Given the description of an element on the screen output the (x, y) to click on. 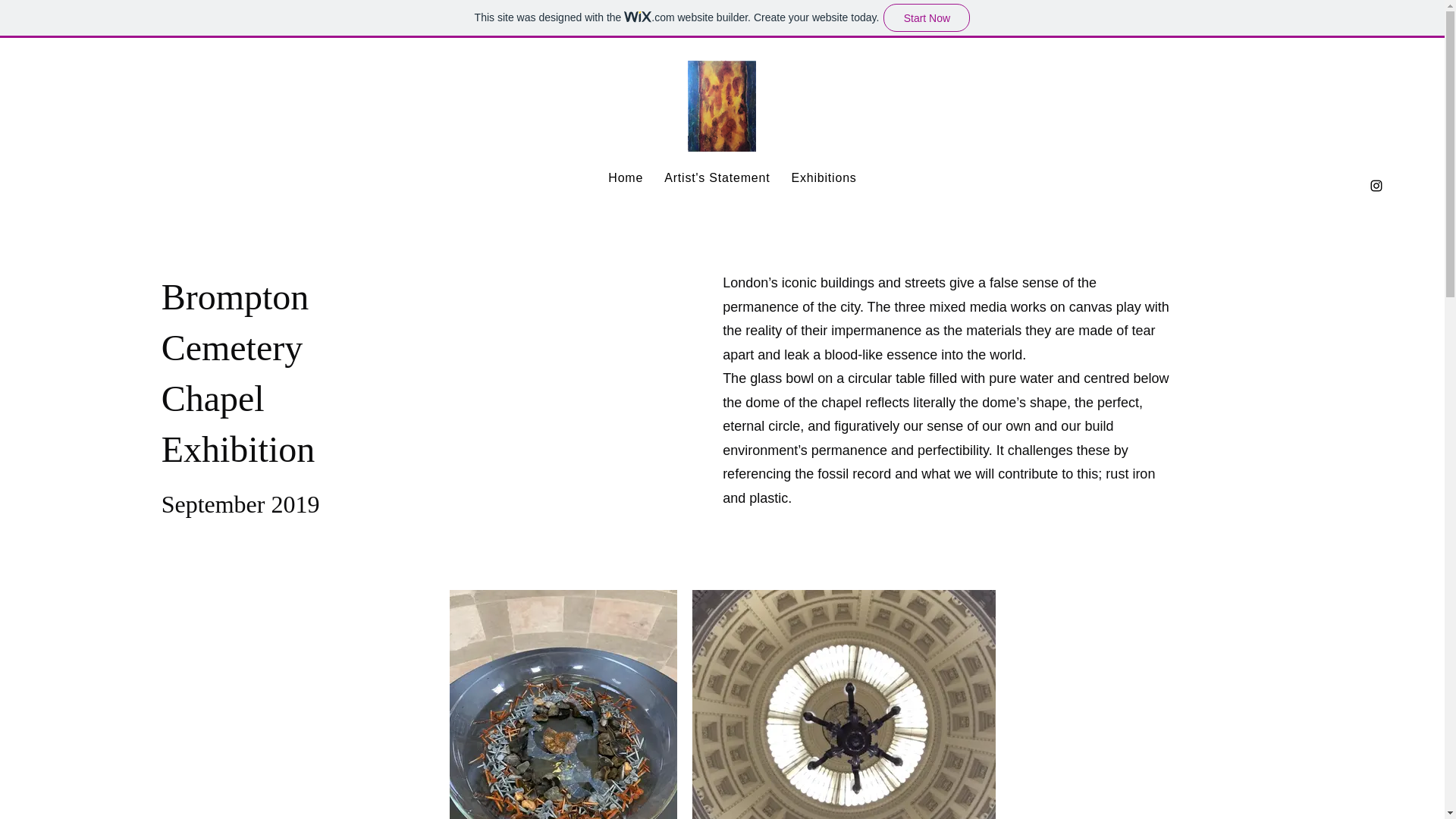
Home (624, 177)
Exhibitions (823, 177)
Artist's Statement (716, 177)
